Given the description of an element on the screen output the (x, y) to click on. 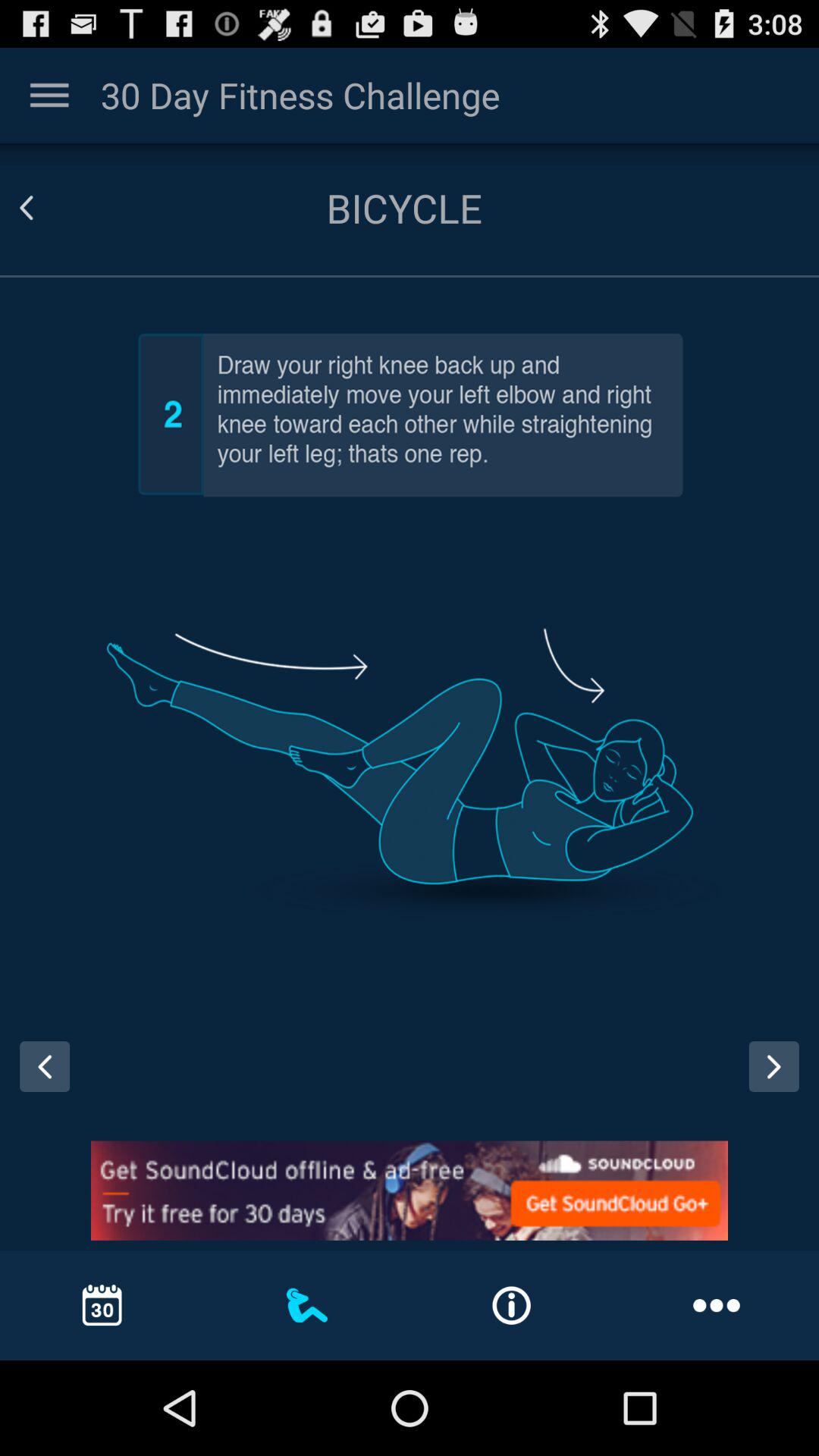
advertisement for sendcloud (409, 1190)
